Given the description of an element on the screen output the (x, y) to click on. 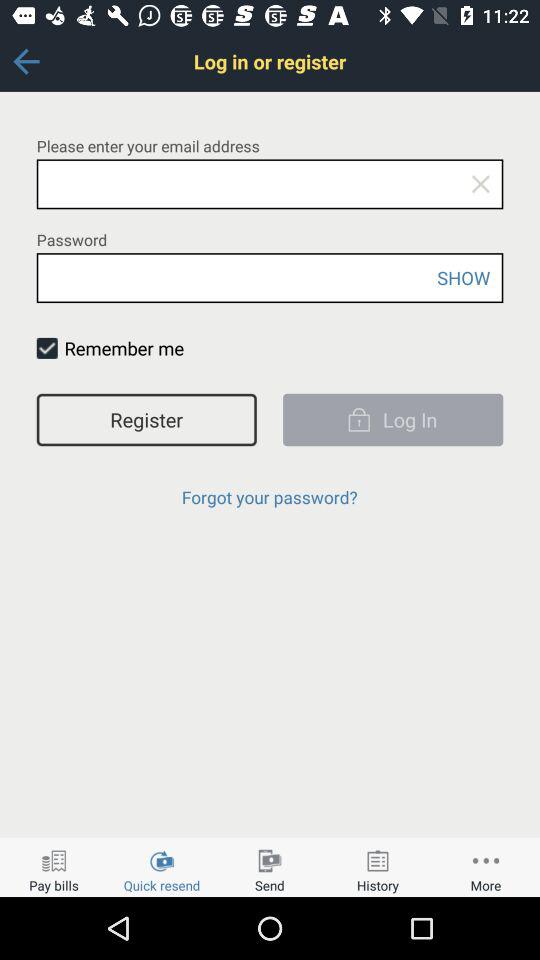
switch remembering details (46, 348)
